Given the description of an element on the screen output the (x, y) to click on. 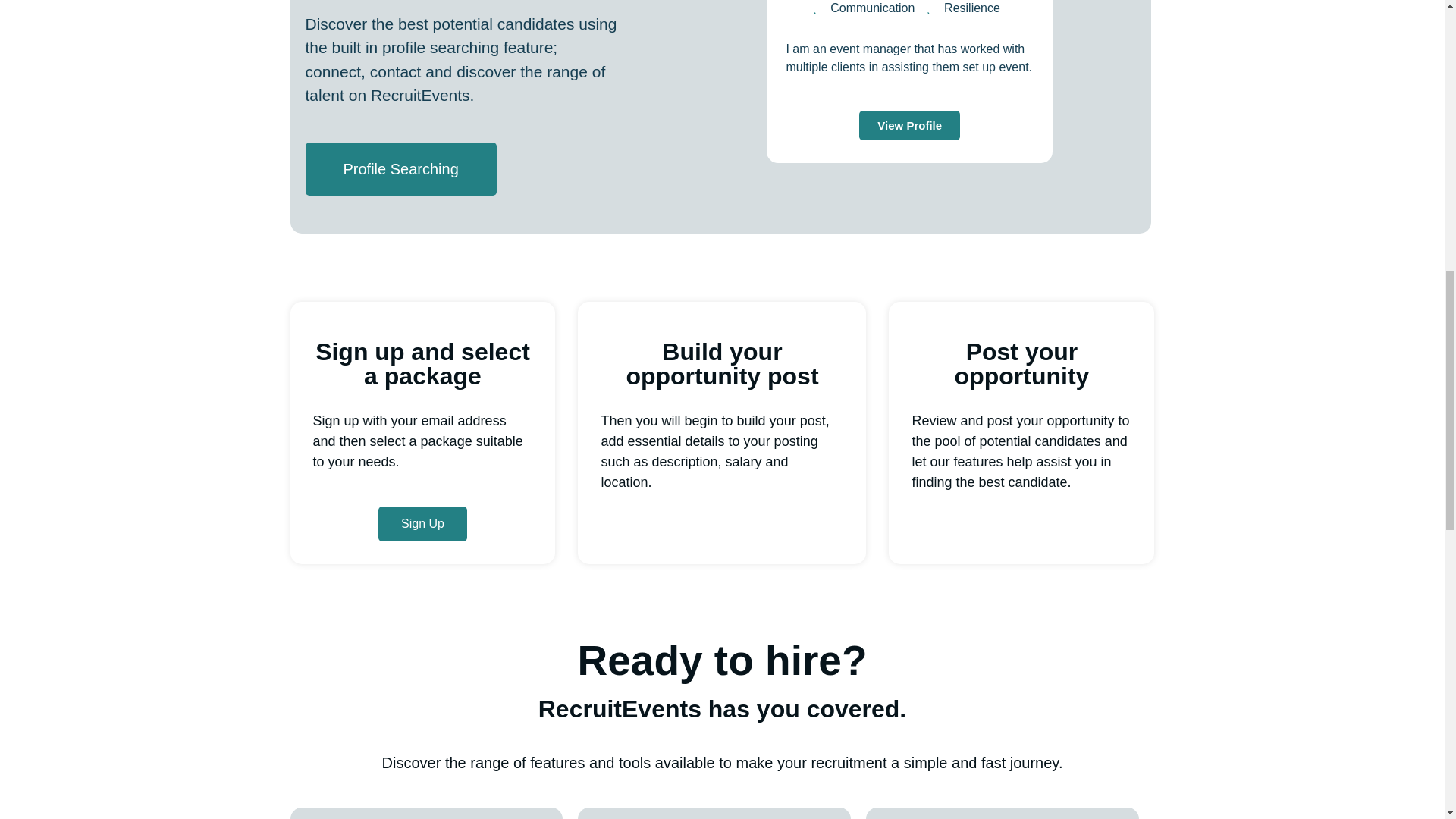
View Profile (909, 125)
Profile Searching (400, 168)
Sign Up (422, 523)
